Given the description of an element on the screen output the (x, y) to click on. 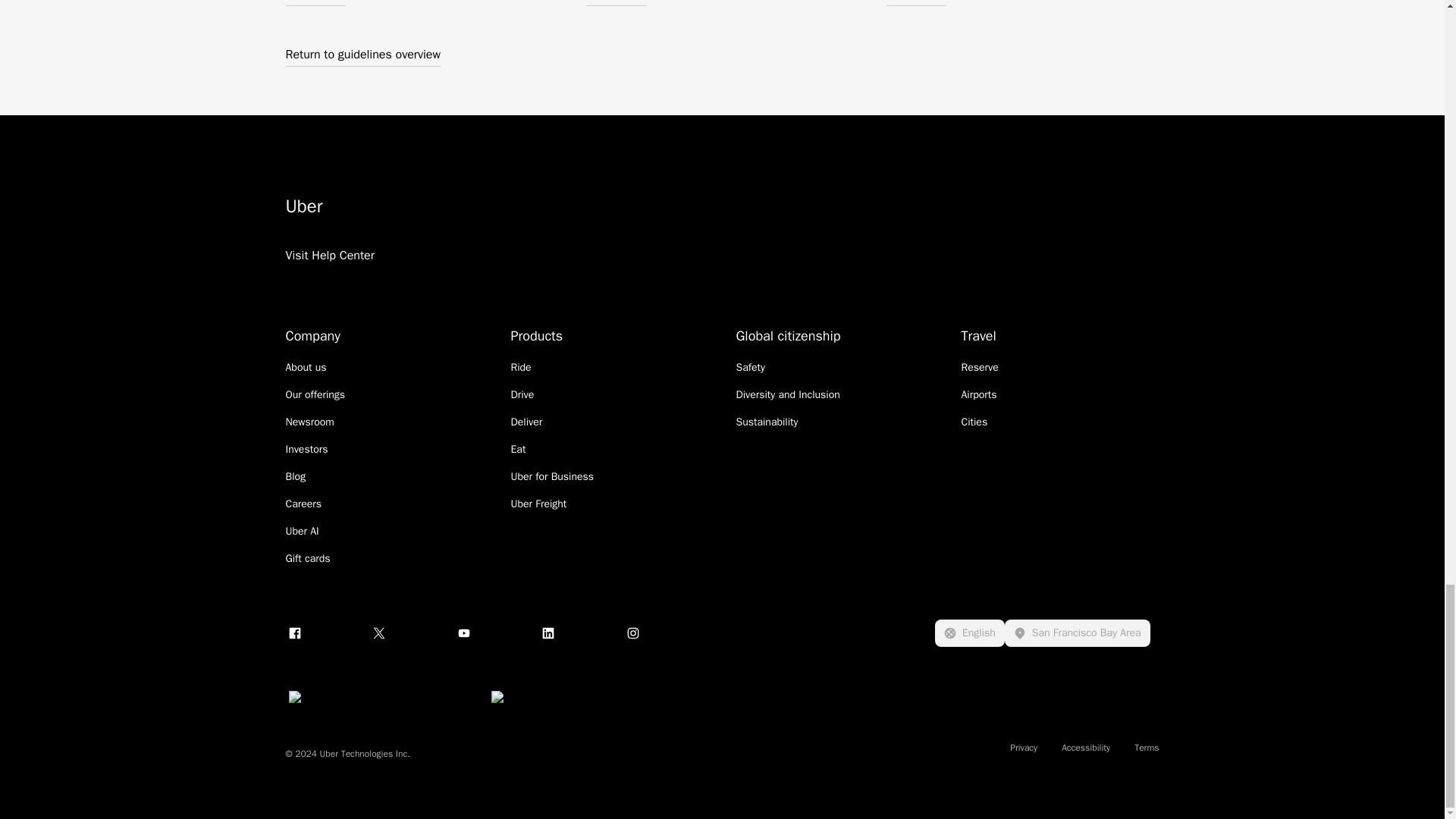
Uber for Business (552, 476)
English (969, 633)
Blog (295, 476)
San Francisco Bay Area (1077, 633)
Learn more (615, 2)
Learn more (914, 2)
Uber Freight (539, 503)
Cities (974, 421)
Ride (521, 367)
Our offerings (315, 394)
Reserve (979, 367)
Diversity and Inclusion (787, 394)
Careers (303, 503)
Uber AI (301, 531)
Eat (518, 449)
